Given the description of an element on the screen output the (x, y) to click on. 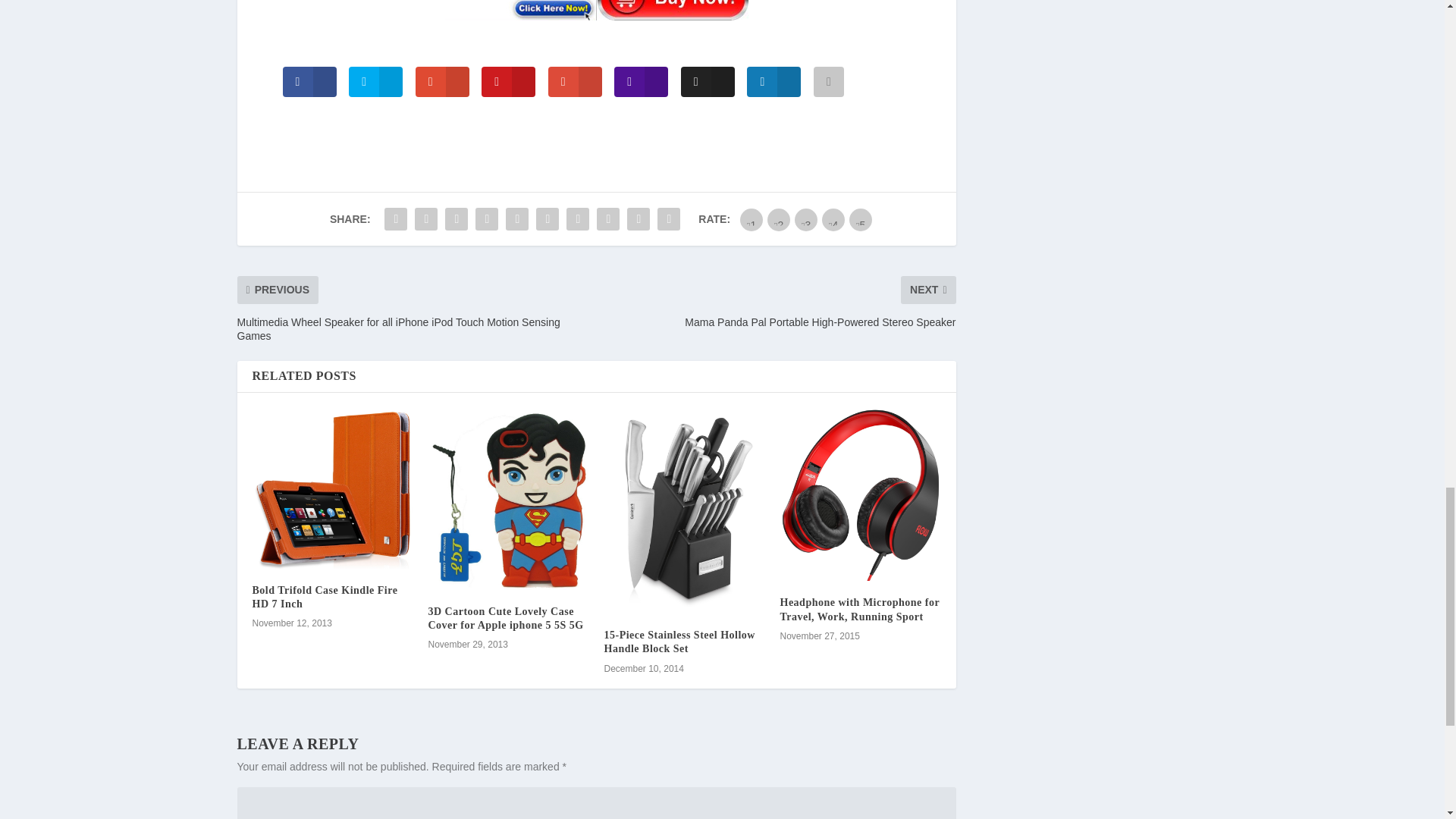
Link (596, 13)
bad (750, 219)
Buy now! (596, 10)
